Given the description of an element on the screen output the (x, y) to click on. 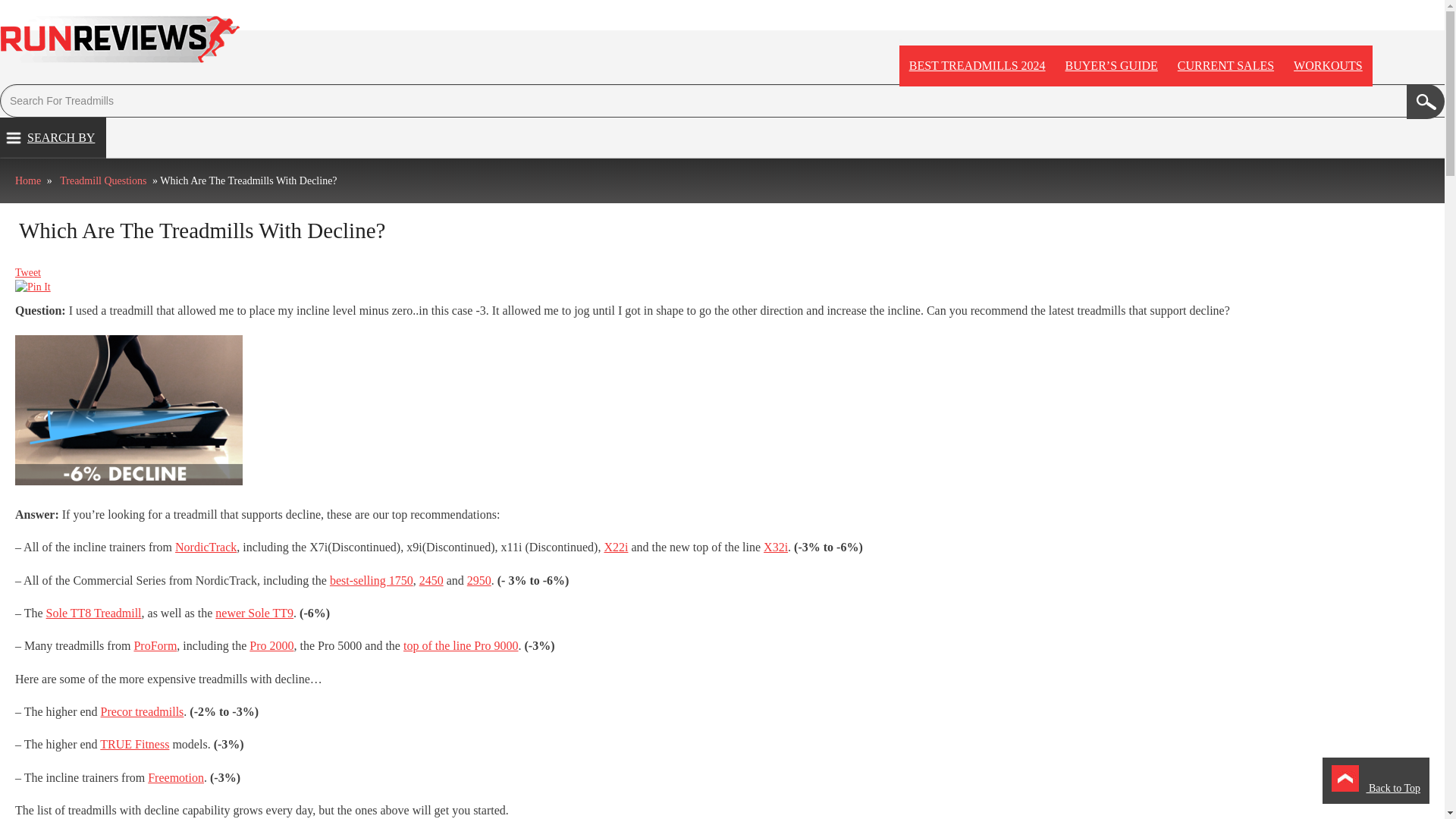
Pin It (32, 287)
SEARCH BY (53, 137)
BEST TREADMILLS 2024 (977, 65)
Back to Top (1375, 780)
Back to Top (1375, 780)
